Given the description of an element on the screen output the (x, y) to click on. 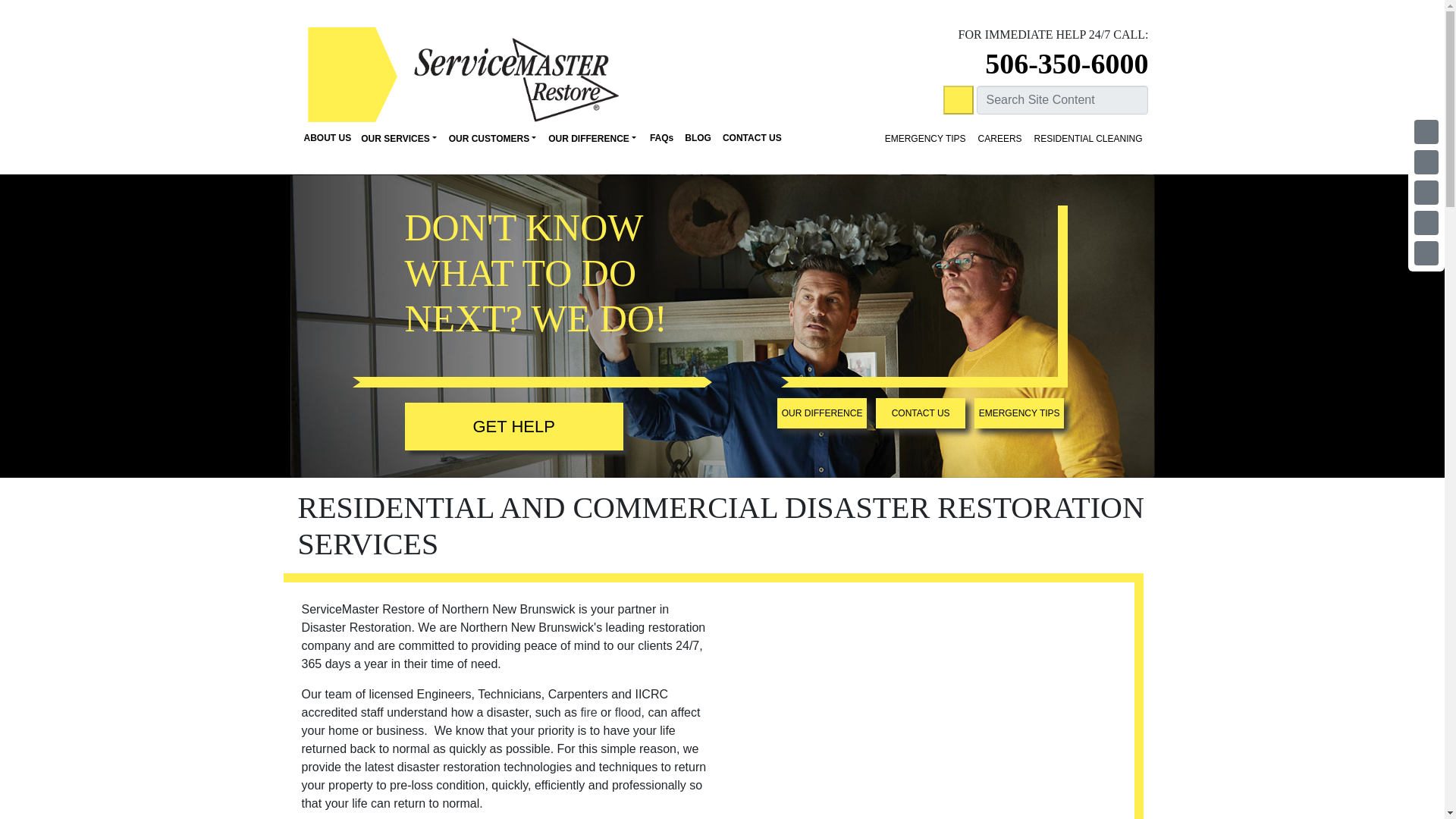
FAQs (659, 137)
OUR CUSTOMERS (492, 138)
ABOUT US (325, 137)
506-350-6000 (1066, 63)
Skip to content (768, 154)
CAREERS (999, 138)
skip to content (768, 154)
BLOG (695, 137)
CONTACT US (750, 137)
EMERGENCY TIPS (925, 138)
OUR SERVICES (398, 138)
OUR DIFFERENCE (591, 138)
